Given the description of an element on the screen output the (x, y) to click on. 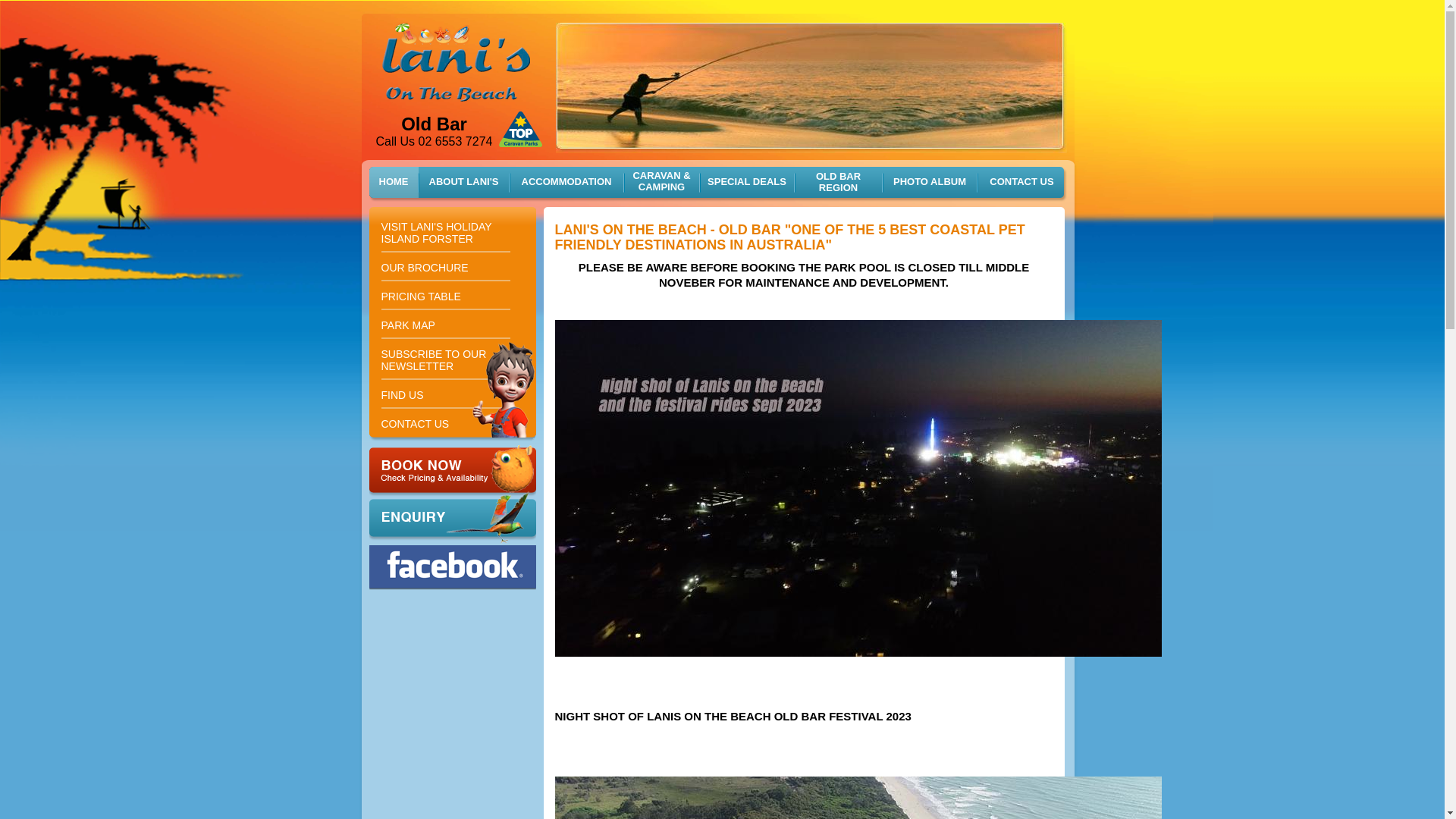
OUR BROCHURE Element type: text (444, 266)
SUBSCRIBE TO OUR NEWSLETTER Element type: text (444, 358)
PHOTO ALBUM Element type: text (929, 188)
CONTACT US Element type: text (444, 420)
VISIT LANI'S HOLIDAY ISLAND FORSTER Element type: text (444, 231)
CONTACT US Element type: text (1021, 188)
PRICING TABLE Element type: text (444, 295)
FIND US Element type: text (444, 393)
HOME Element type: text (392, 188)
SPECIAL DEALS Element type: text (746, 188)
ACCOMMODATION Element type: text (566, 188)
OLD BAR REGION Element type: text (838, 185)
CARAVAN & CAMPING Element type: text (661, 185)
ABOUT LANI'S Element type: text (463, 188)
PARK MAP Element type: text (444, 324)
